Given the description of an element on the screen output the (x, y) to click on. 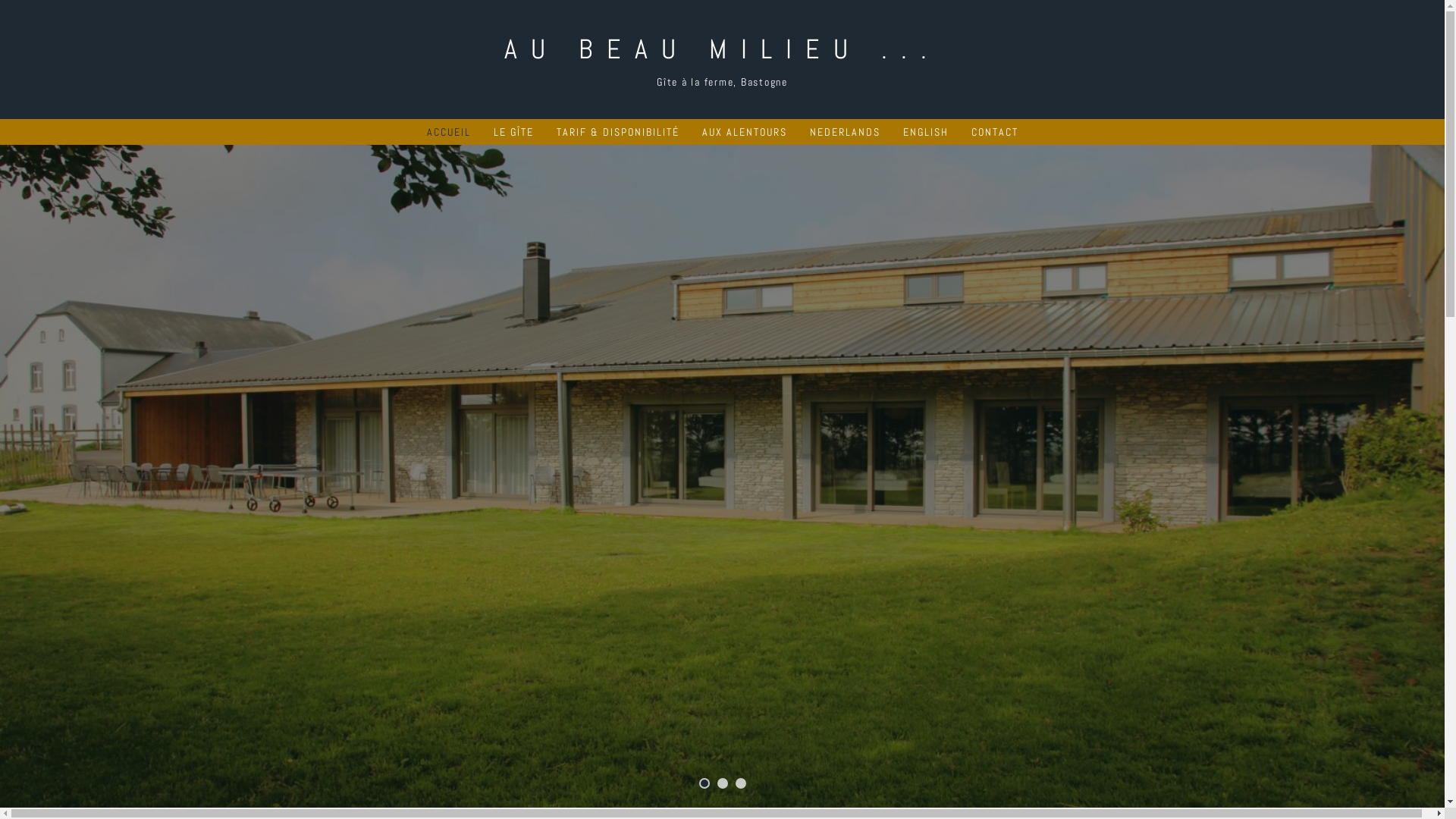
NEDERLANDS Element type: text (844, 131)
AUX ALENTOURS Element type: text (744, 131)
AU BEAU MILIEU ... Element type: text (722, 49)
Aller au contenu Element type: text (0, 0)
ENGLISH Element type: text (924, 131)
ACCUEIL Element type: text (448, 131)
CONTACT Element type: text (993, 131)
